Given the description of an element on the screen output the (x, y) to click on. 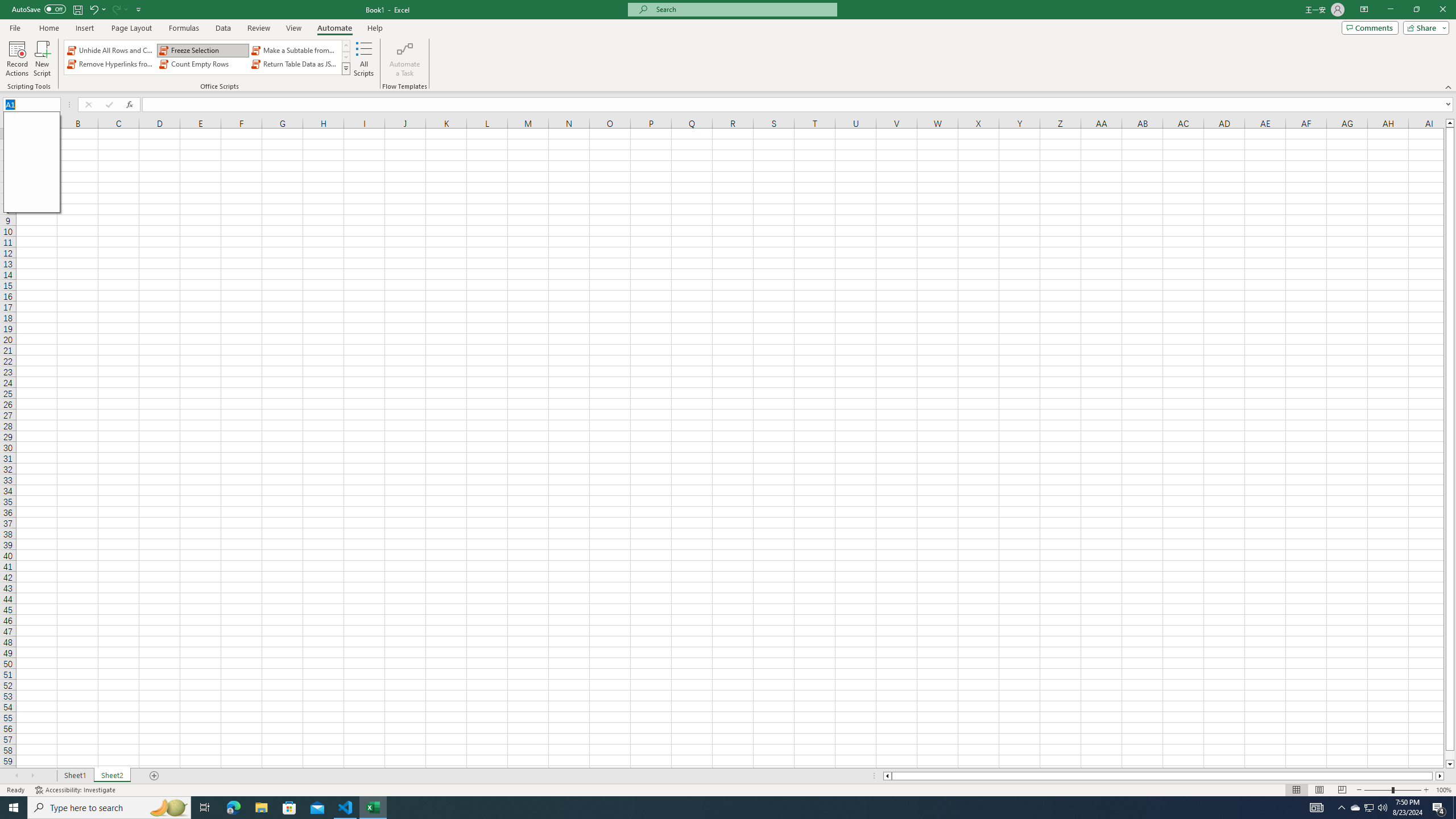
New Script (41, 58)
